Given the description of an element on the screen output the (x, y) to click on. 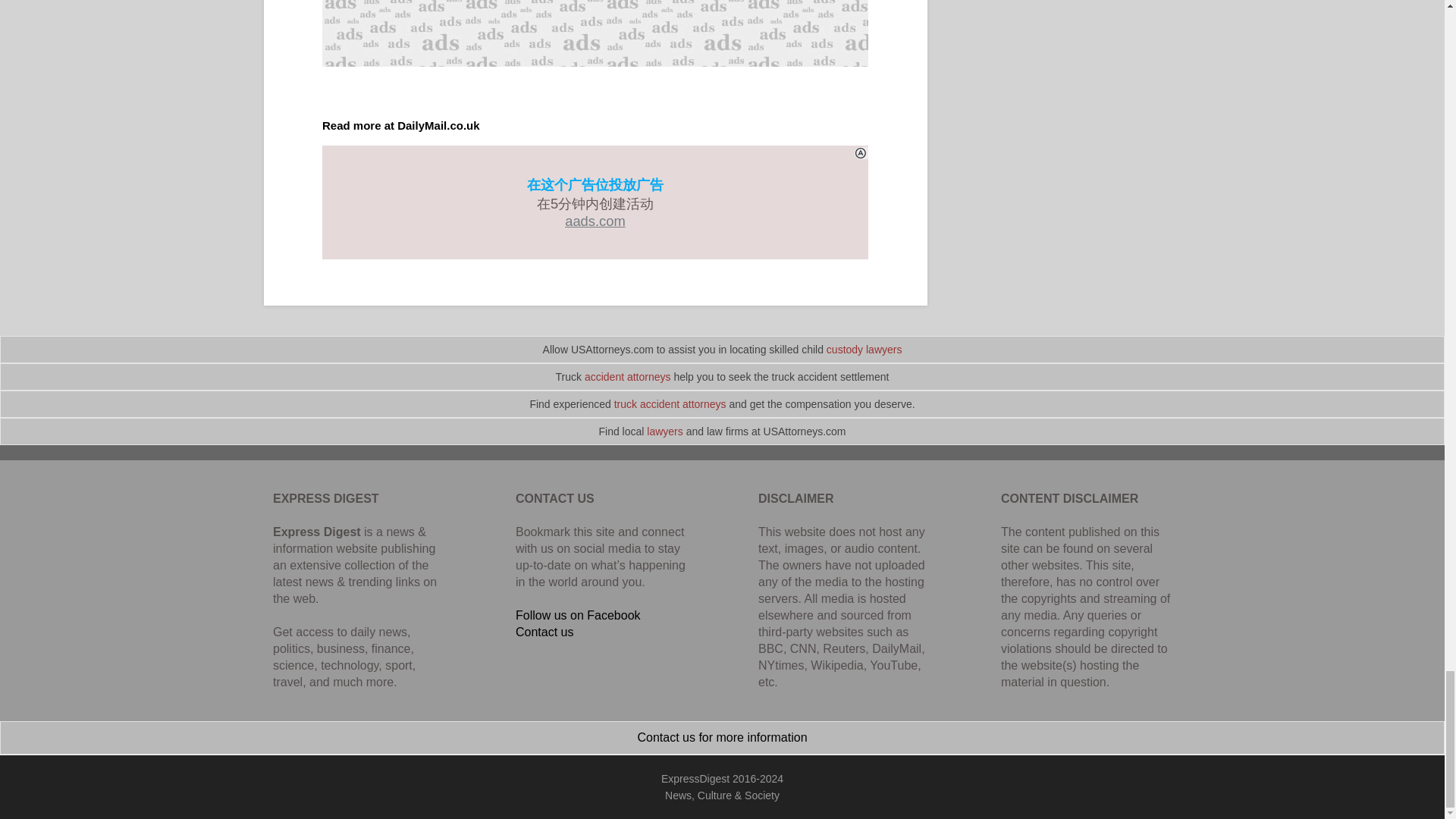
lawyers (664, 431)
truck accident attorneys (670, 404)
accident attorneys (628, 377)
Read more at DailyMail.co.uk (400, 124)
custody lawyers (864, 349)
